Given the description of an element on the screen output the (x, y) to click on. 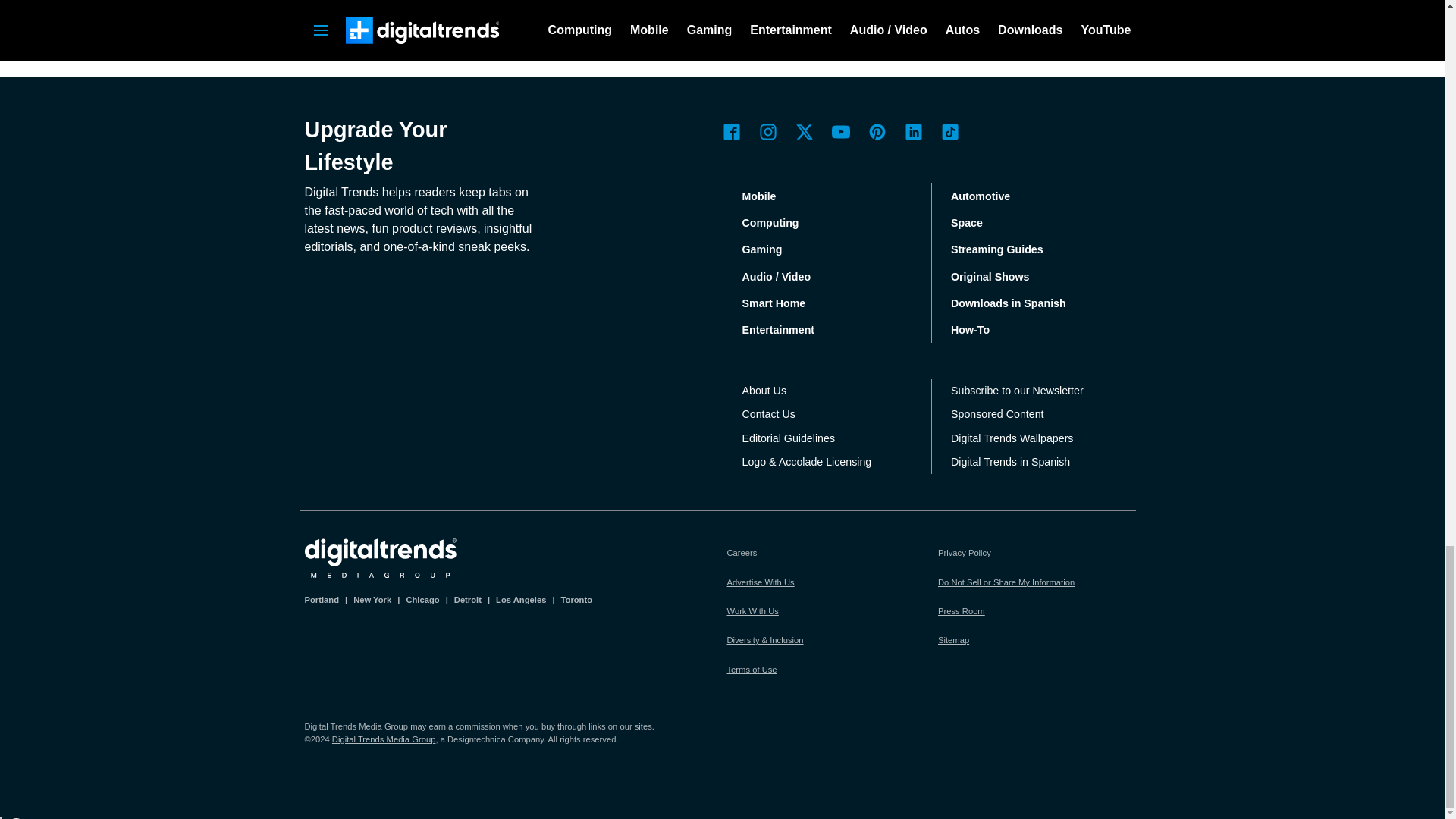
Digital Trends Media Group (380, 558)
